Given the description of an element on the screen output the (x, y) to click on. 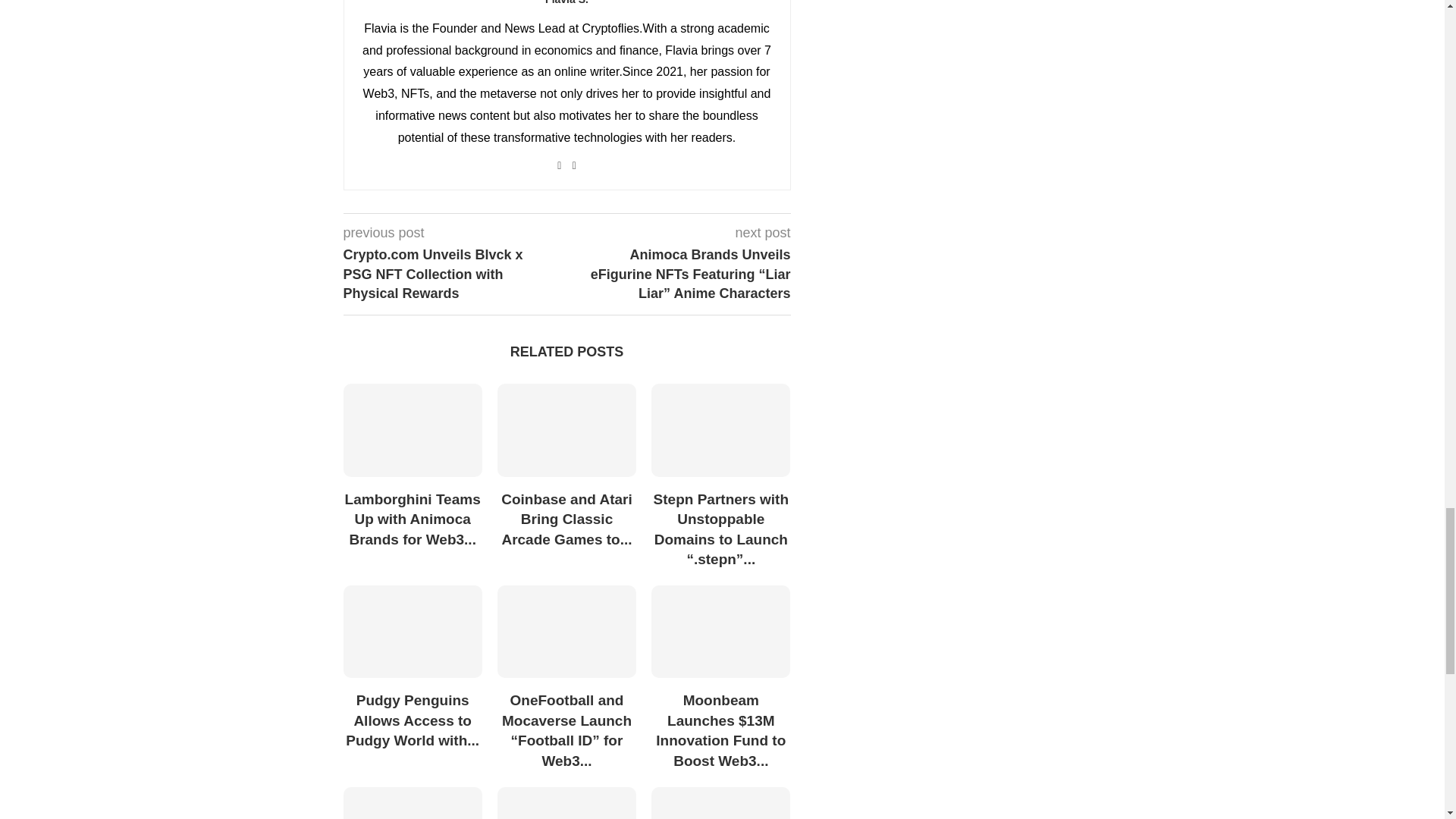
Coinbase and Atari Bring Classic Arcade Games to Web3 (566, 429)
Author Flavia S. (566, 3)
